Given the description of an element on the screen output the (x, y) to click on. 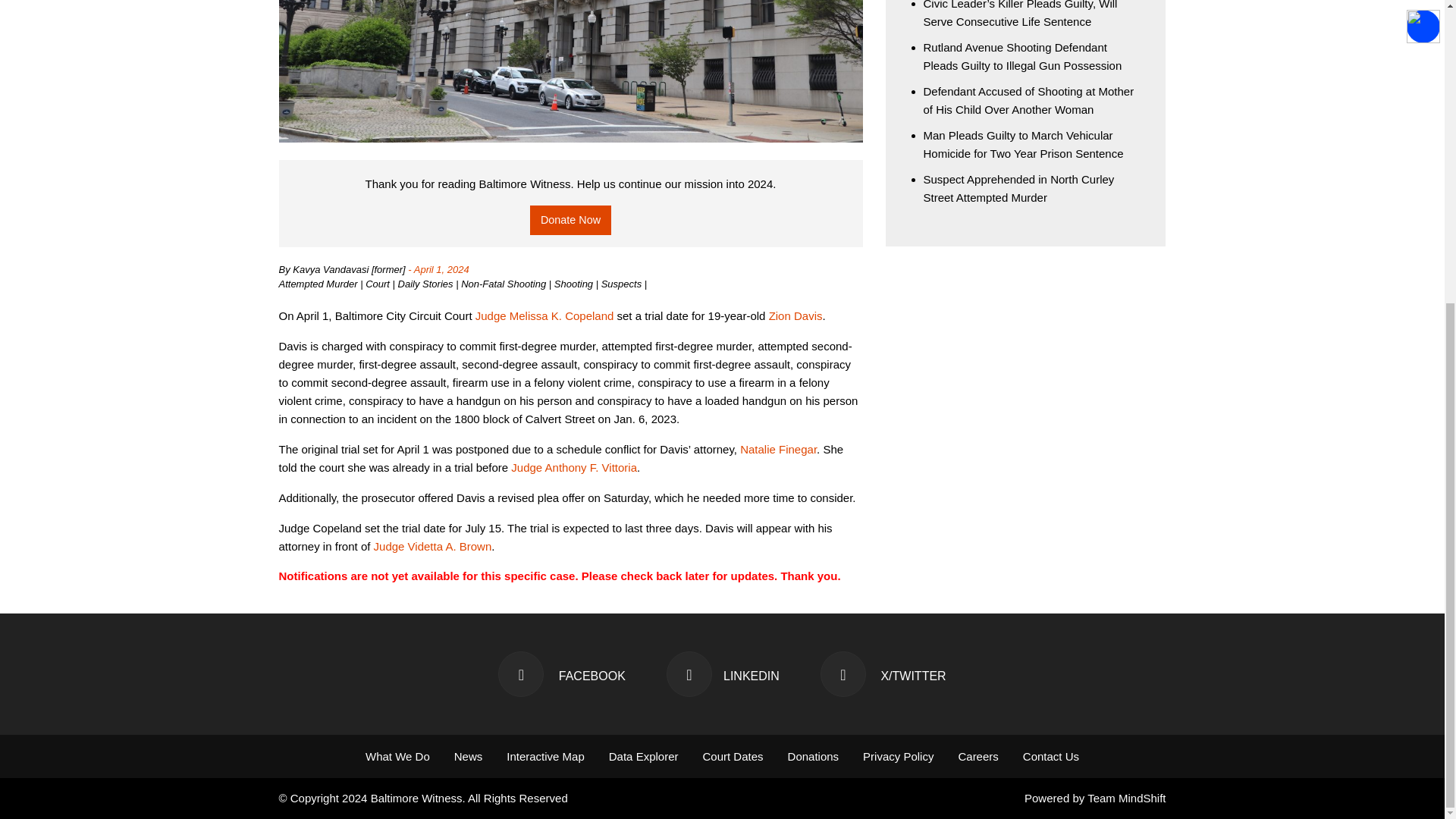
Shooting (574, 283)
Donate Now (570, 220)
Attempted Murder (320, 283)
Non-Fatal Shooting (504, 283)
Daily Stories (427, 283)
Court (378, 283)
